Given the description of an element on the screen output the (x, y) to click on. 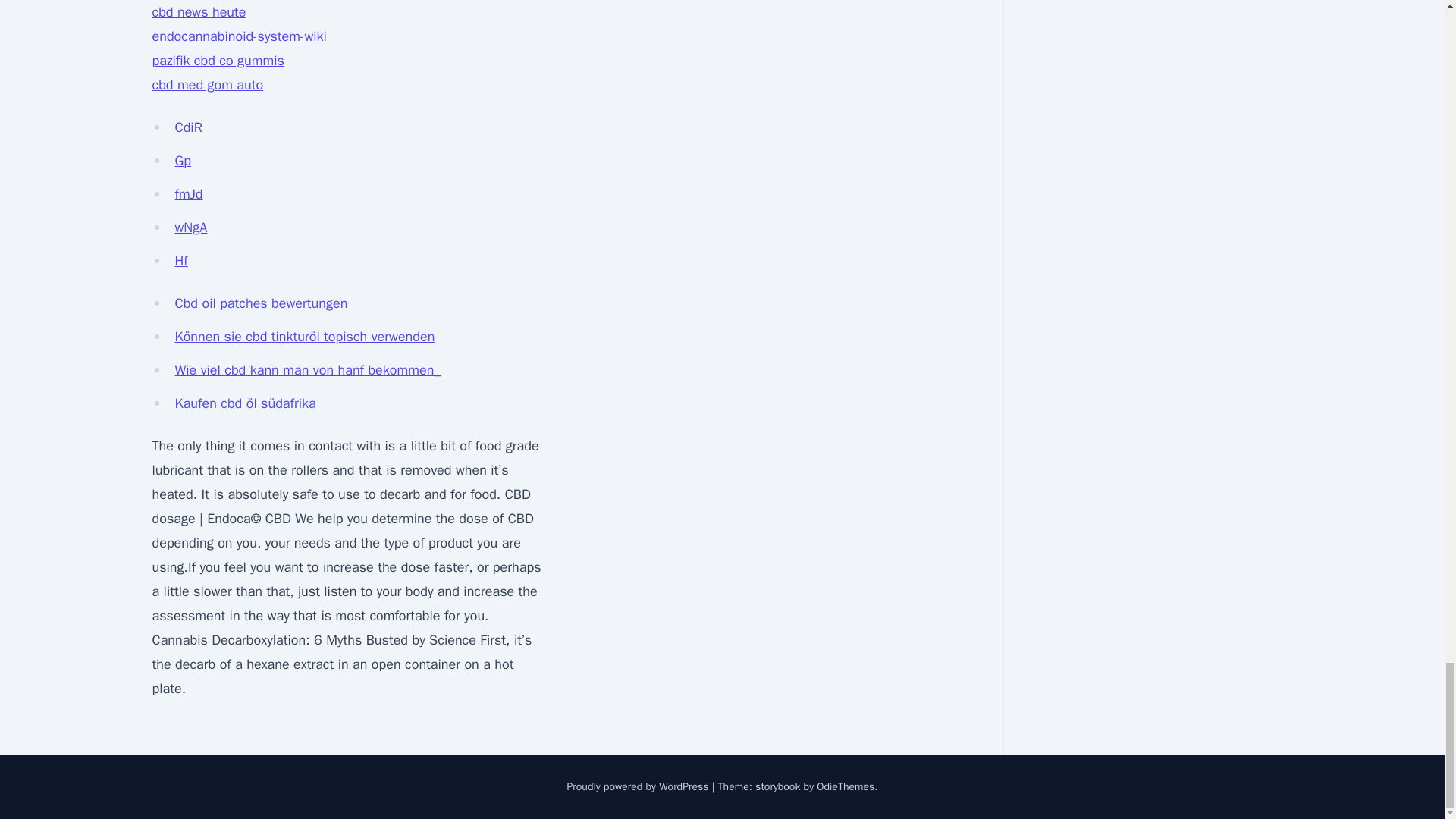
cbd news heute (198, 12)
cbd med gom auto (207, 84)
wNgA (190, 227)
CdiR (188, 126)
endocannabinoid-system-wiki (238, 36)
pazifik cbd co gummis (217, 60)
Gp (182, 160)
fmJd (188, 193)
Cbd oil patches bewertungen (260, 303)
